Given the description of an element on the screen output the (x, y) to click on. 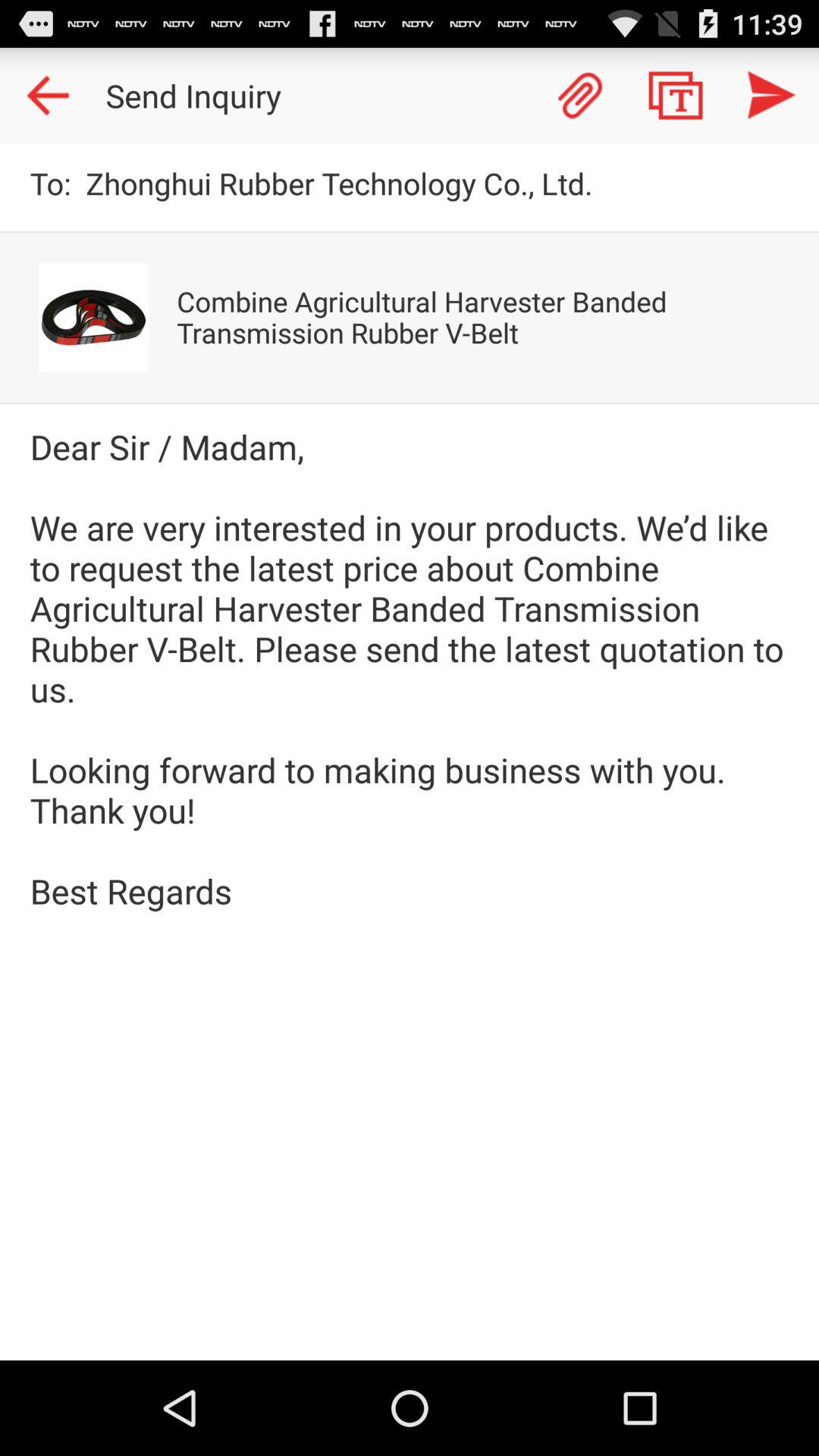
go back (47, 95)
